Given the description of an element on the screen output the (x, y) to click on. 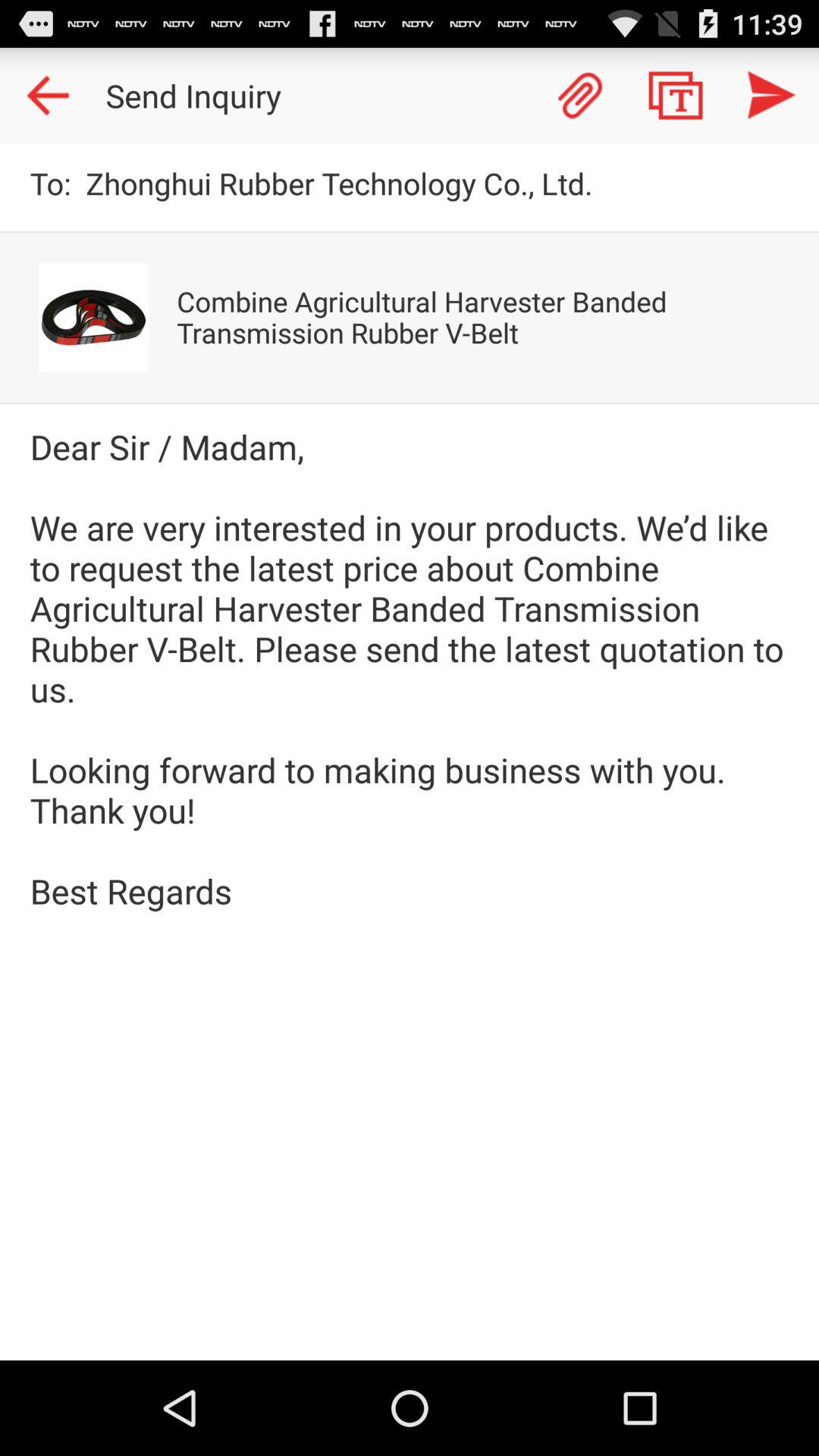
go back (47, 95)
